Given the description of an element on the screen output the (x, y) to click on. 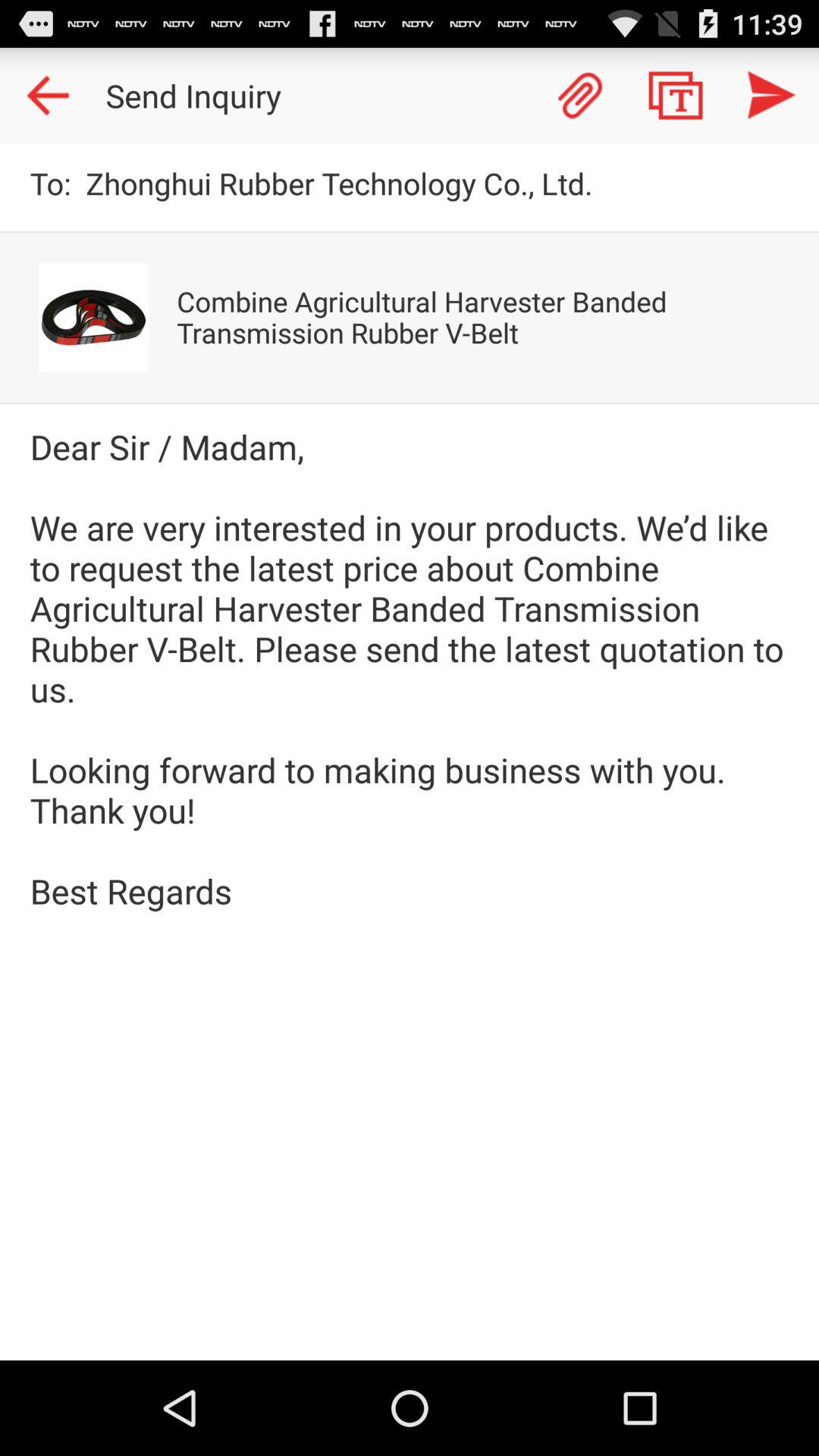
go back (47, 95)
